Given the description of an element on the screen output the (x, y) to click on. 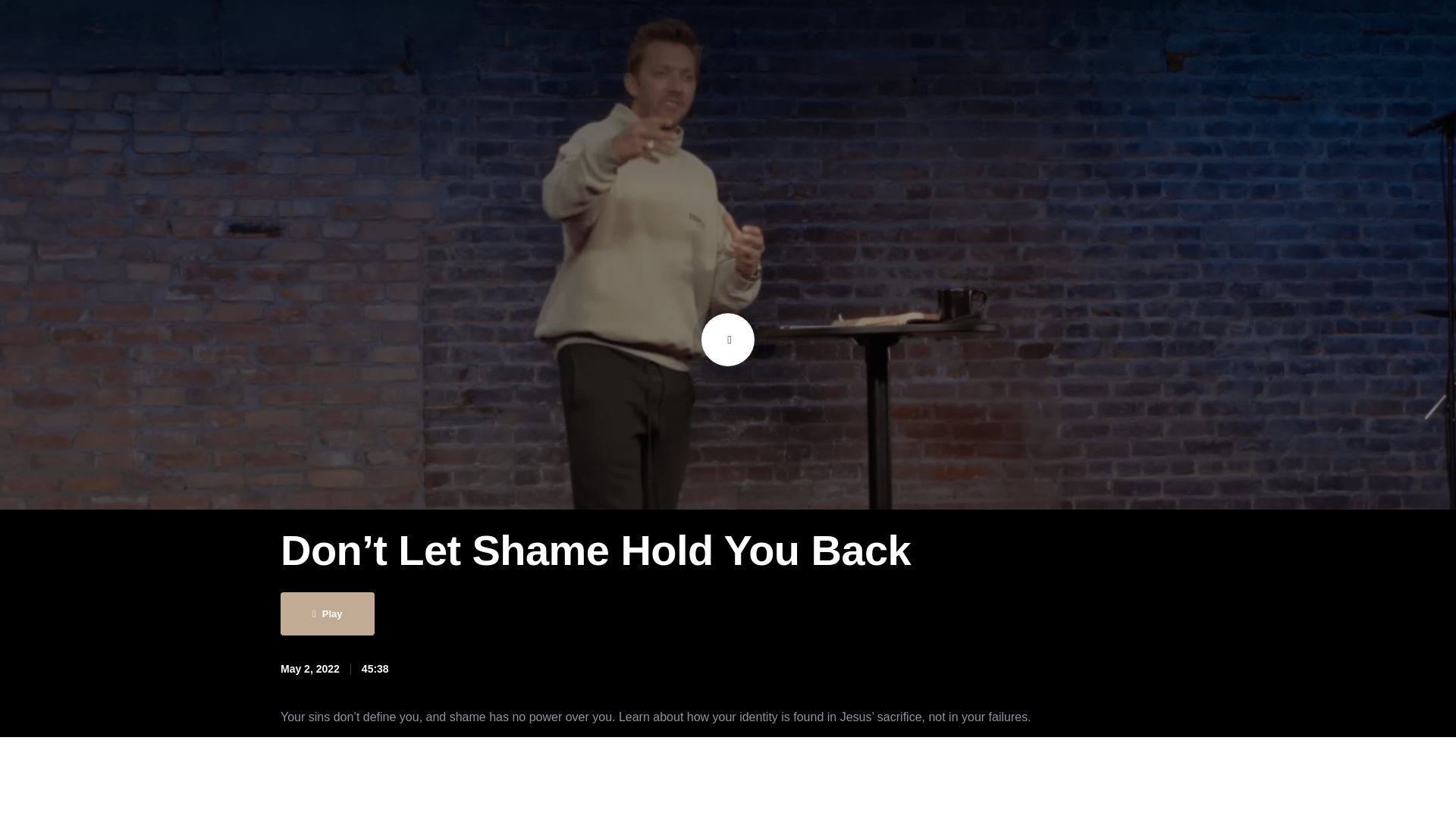
Play (327, 613)
